Given the description of an element on the screen output the (x, y) to click on. 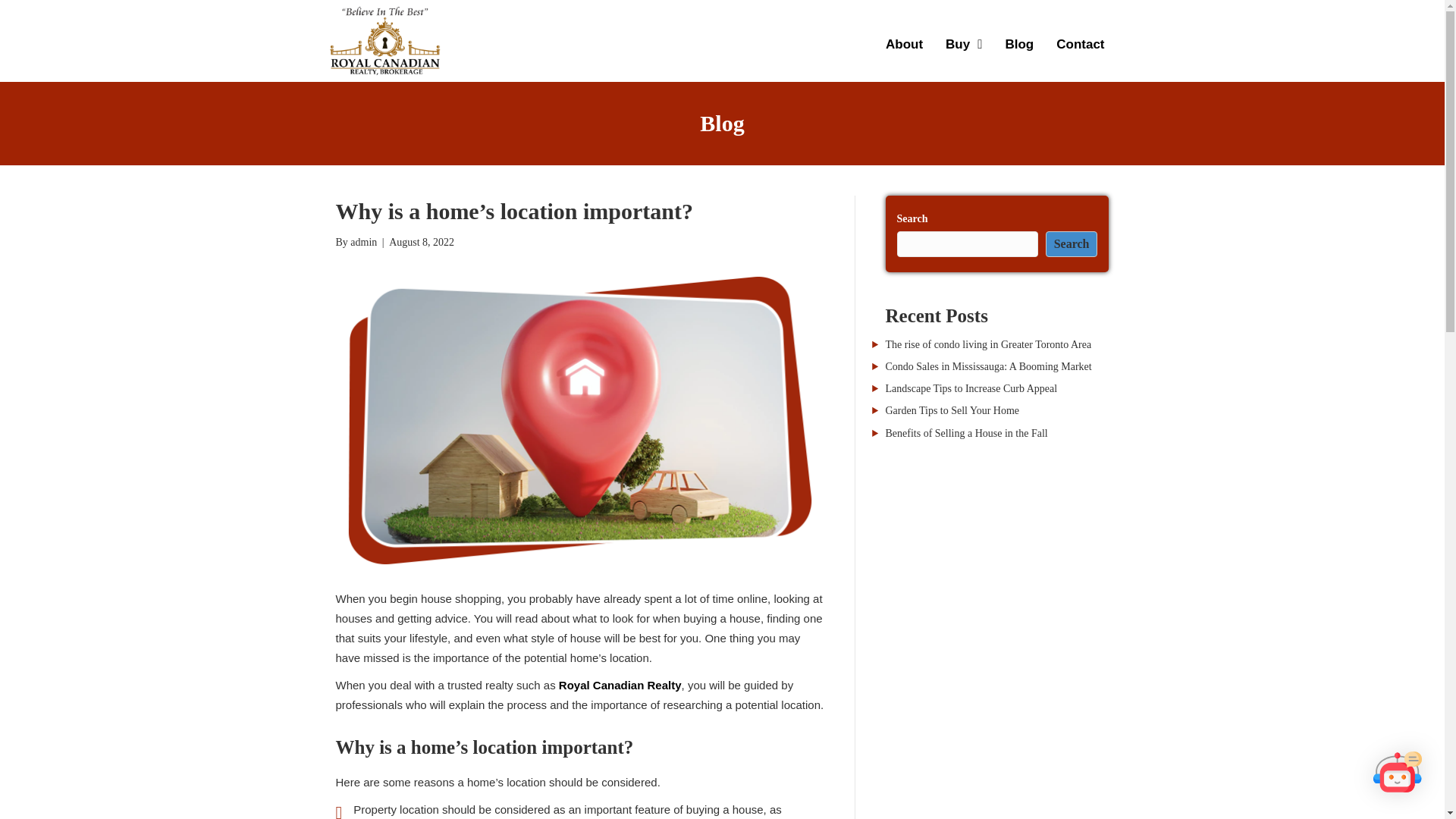
logo (384, 40)
About (903, 44)
Blog (1019, 44)
Royal Canadian Realty (620, 684)
Contact (1080, 44)
admin (363, 242)
Buy (963, 44)
